Given the description of an element on the screen output the (x, y) to click on. 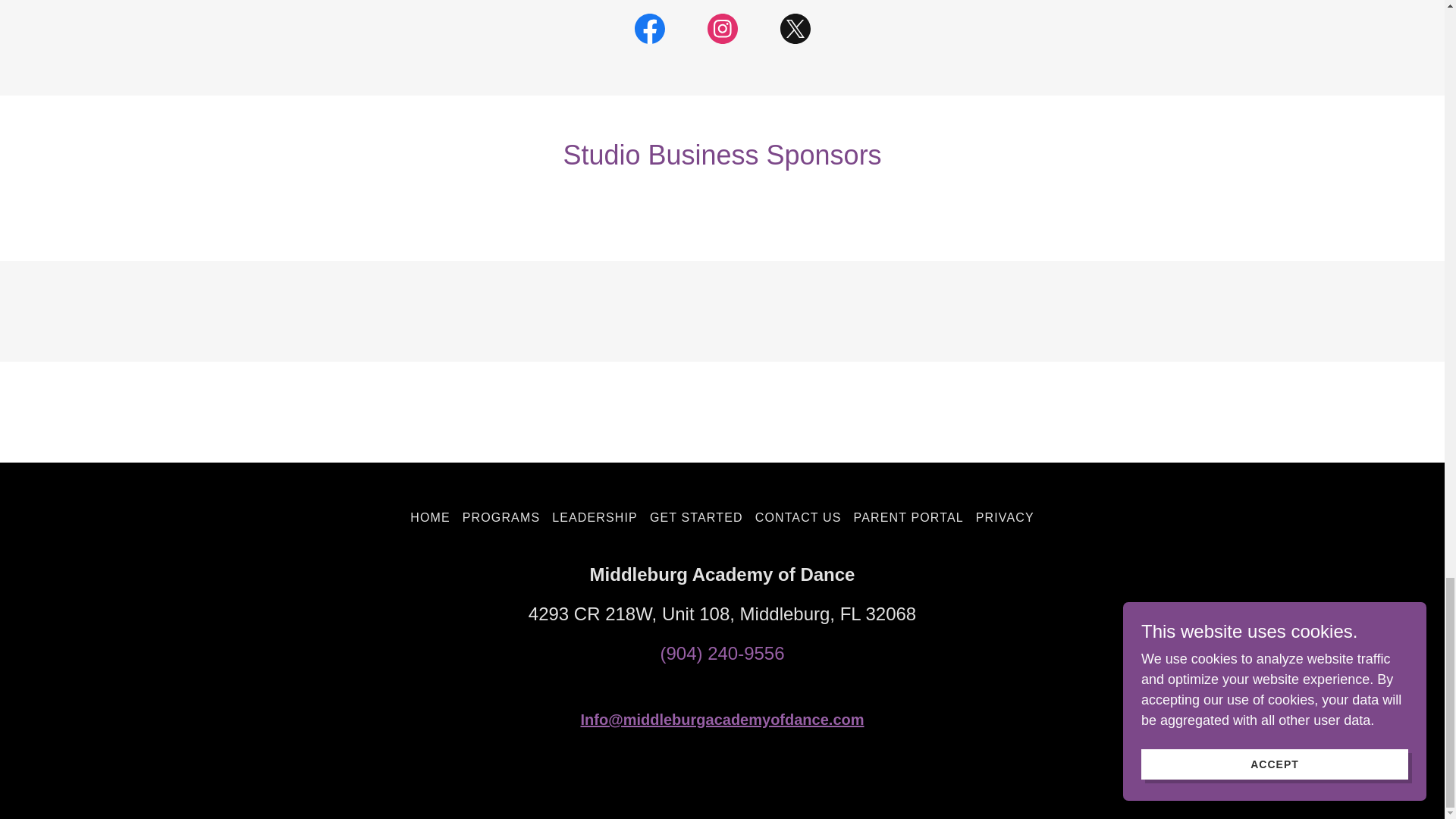
PROGRAMS (501, 517)
PARENT PORTAL (908, 517)
HOME (430, 517)
LEADERSHIP (594, 517)
GET STARTED (696, 517)
CONTACT US (798, 517)
PRIVACY (1005, 517)
